Given the description of an element on the screen output the (x, y) to click on. 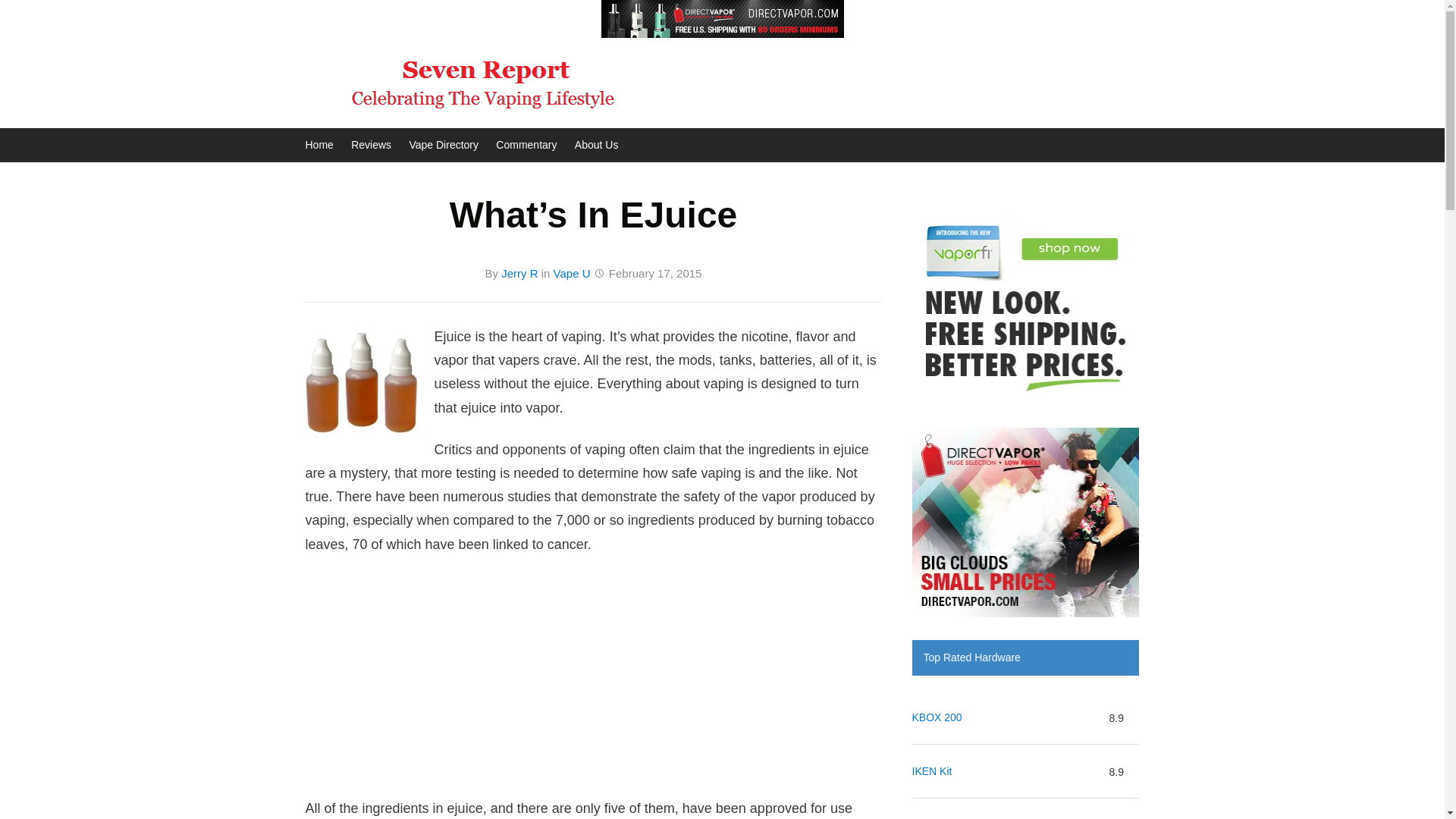
Posts by Jerry R (518, 273)
About Us (596, 144)
KBOX 200 (935, 717)
Spider Kit (934, 817)
Reviews (370, 144)
Vape Directory (444, 144)
Commentary (526, 144)
IKEN Kit (931, 771)
